Given the description of an element on the screen output the (x, y) to click on. 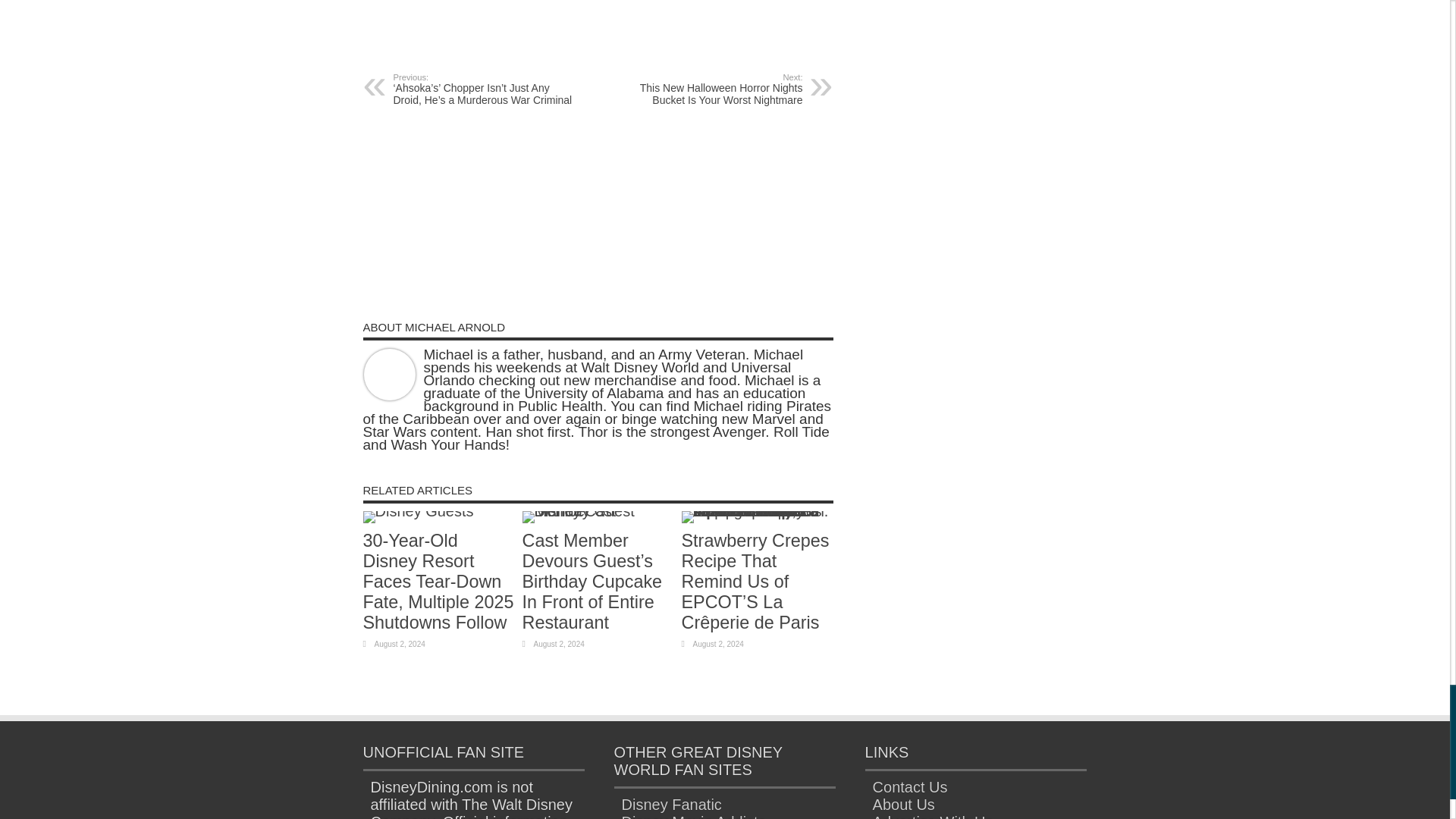
Pin It (563, 34)
